Given the description of an element on the screen output the (x, y) to click on. 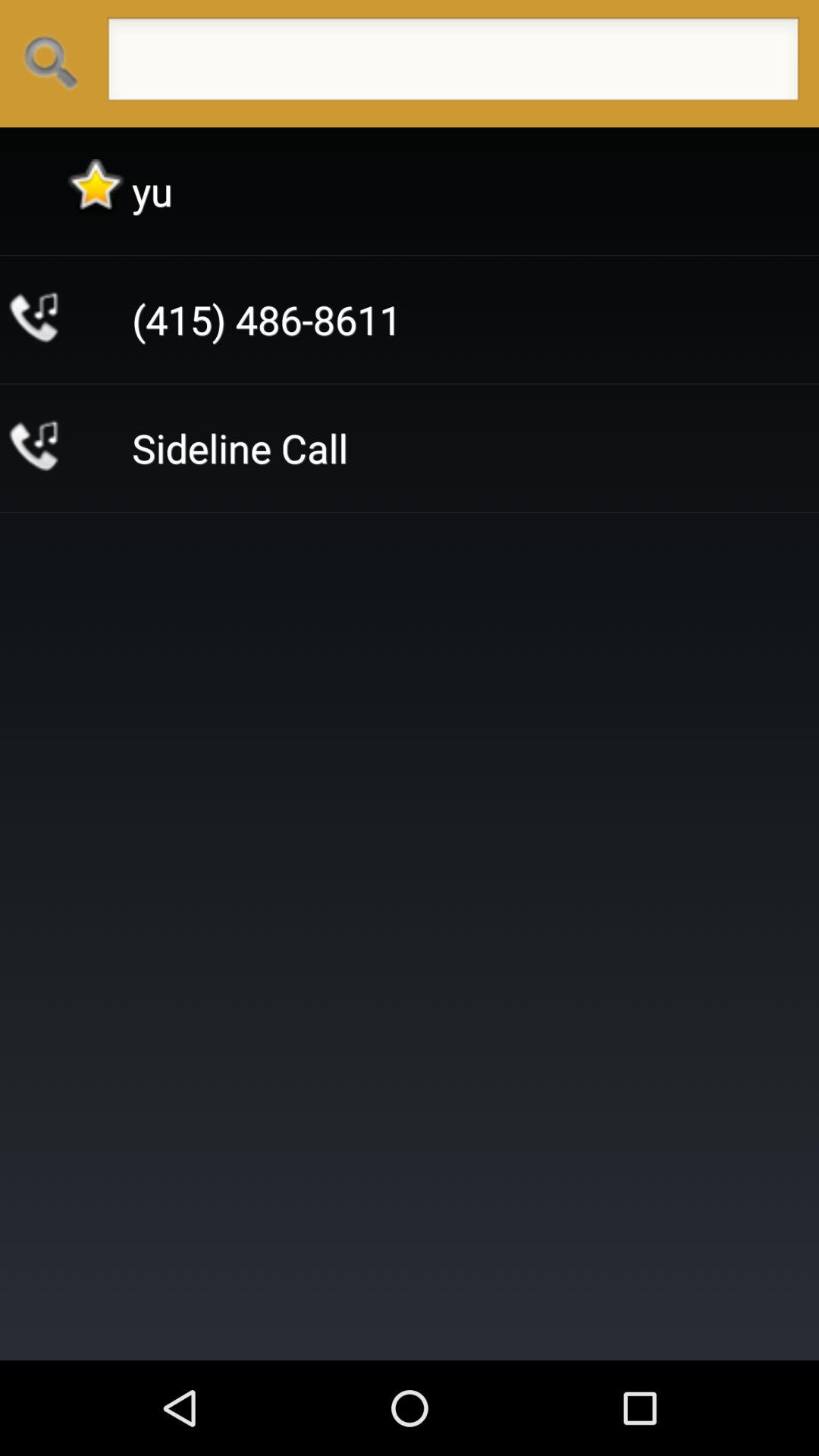
flip to the (415) 486-8611 app (266, 319)
